Given the description of an element on the screen output the (x, y) to click on. 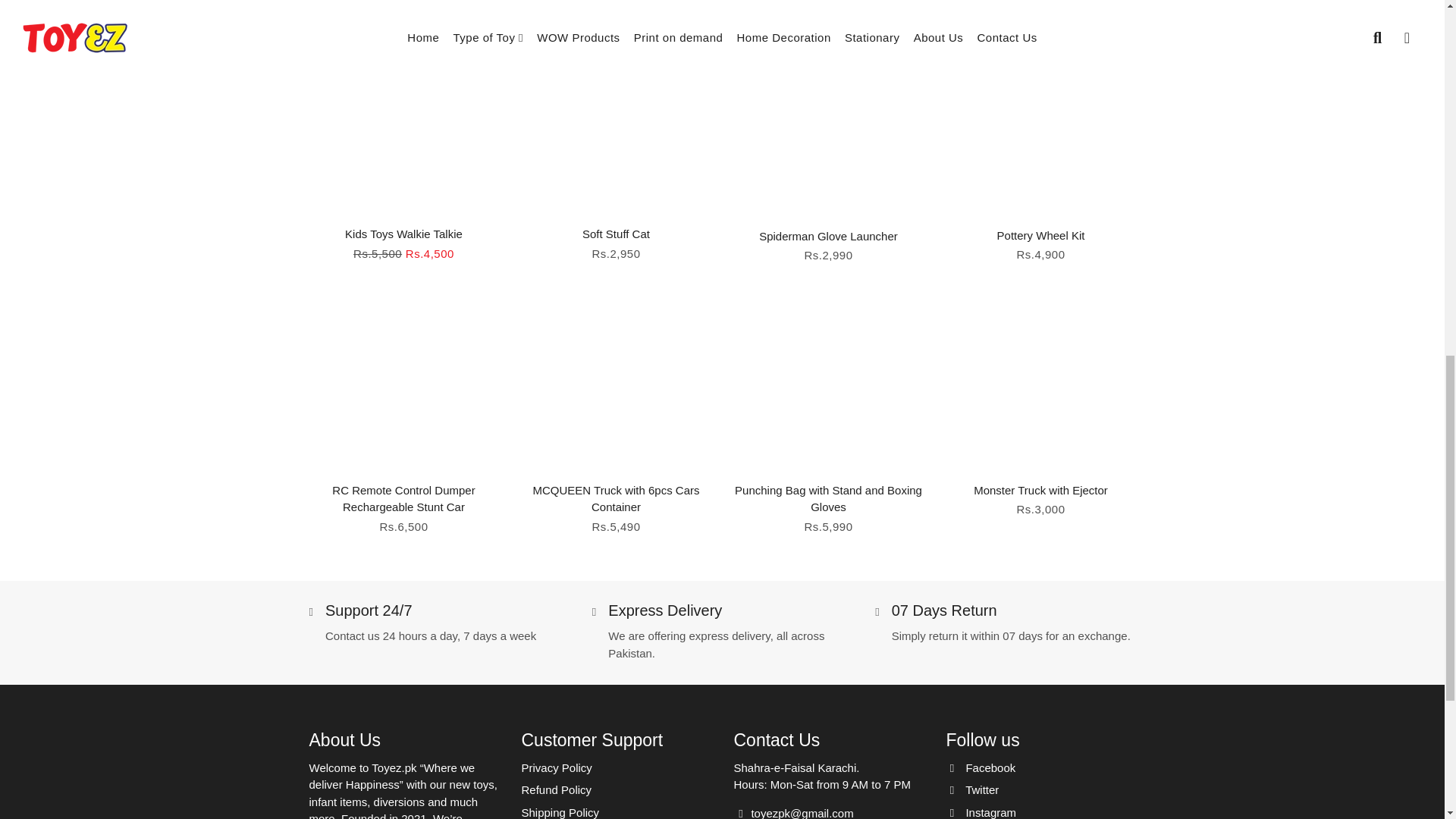
Toyez on Twitter (972, 790)
Toyez on Facebook (981, 768)
Toyez on Instagram (981, 811)
